Given the description of an element on the screen output the (x, y) to click on. 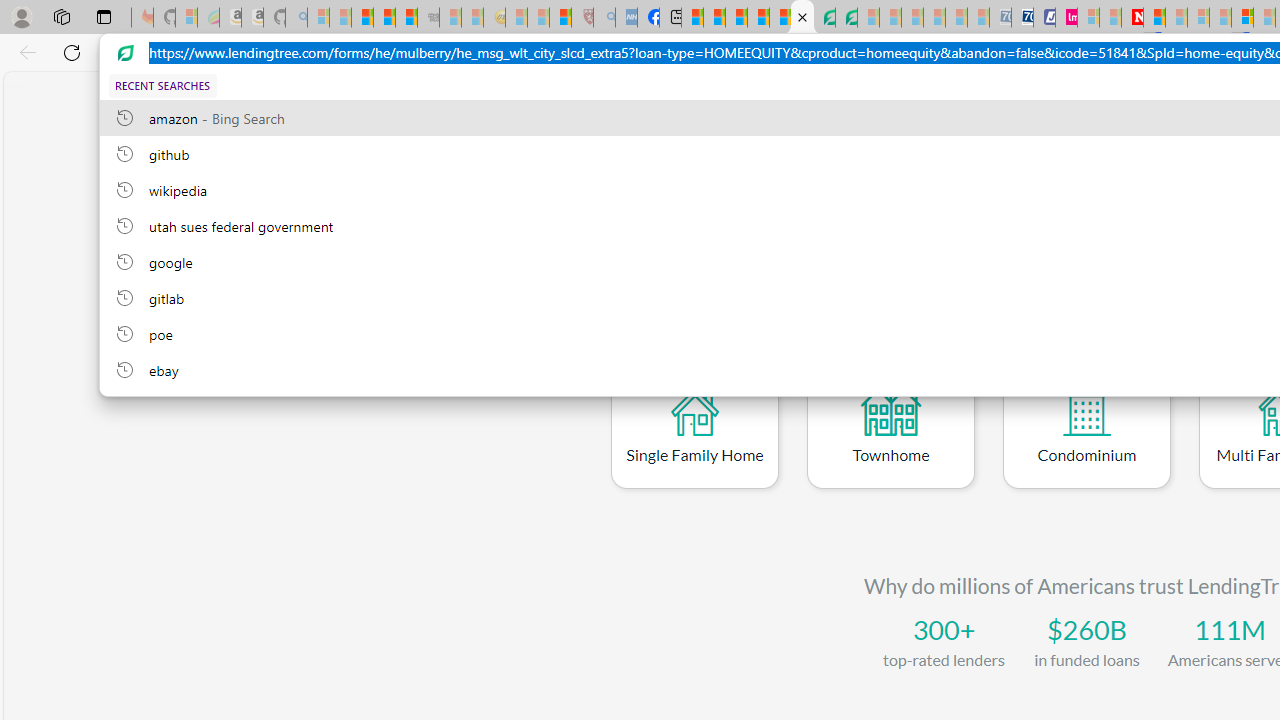
Terms of Use Agreement (824, 17)
